Given the description of an element on the screen output the (x, y) to click on. 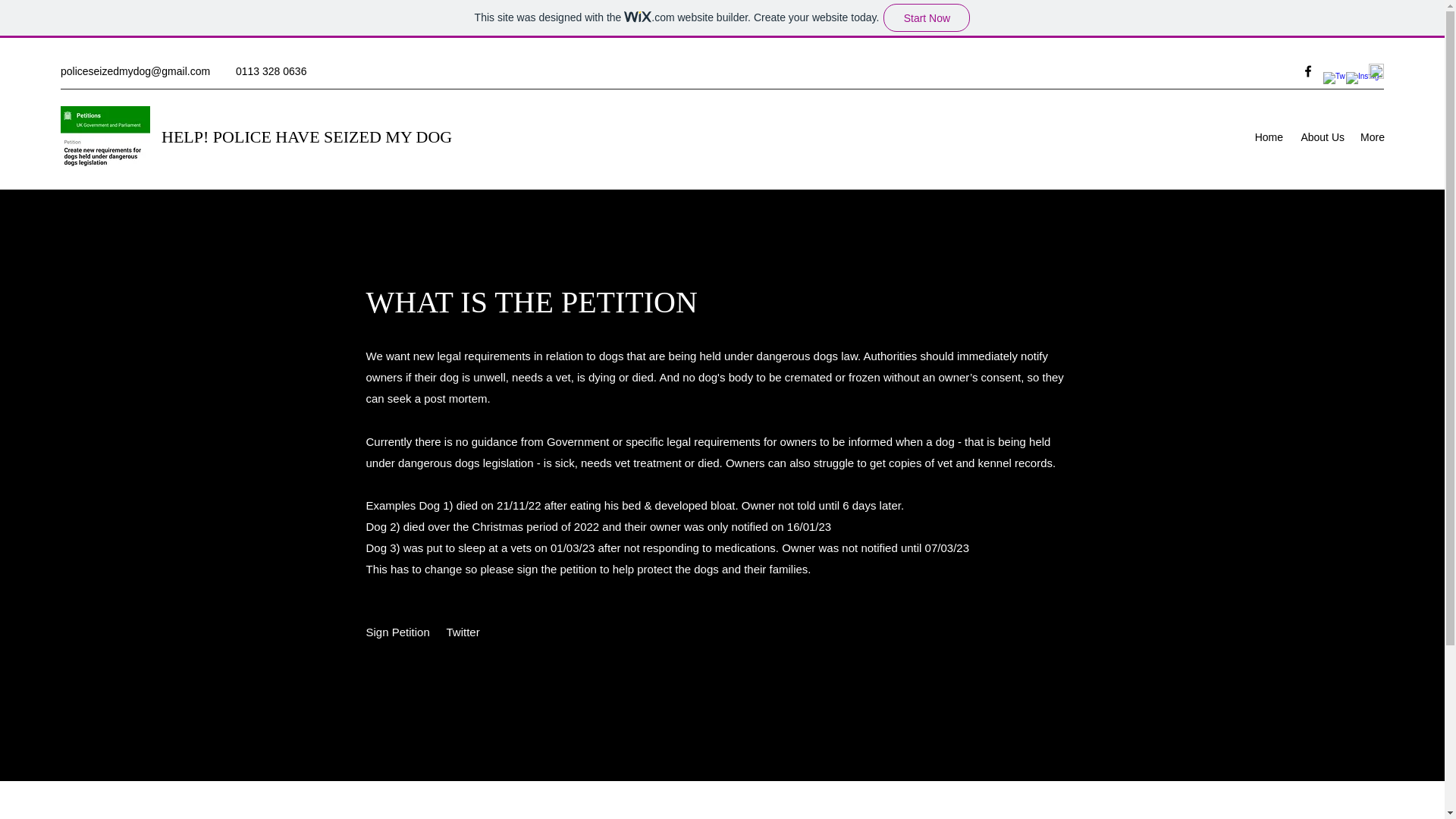
Home (1268, 137)
HELP! POLICE HAVE SEIZED MY DOG (306, 136)
About Us (1321, 137)
Twitter (463, 631)
Sign Petition (397, 631)
